Given the description of an element on the screen output the (x, y) to click on. 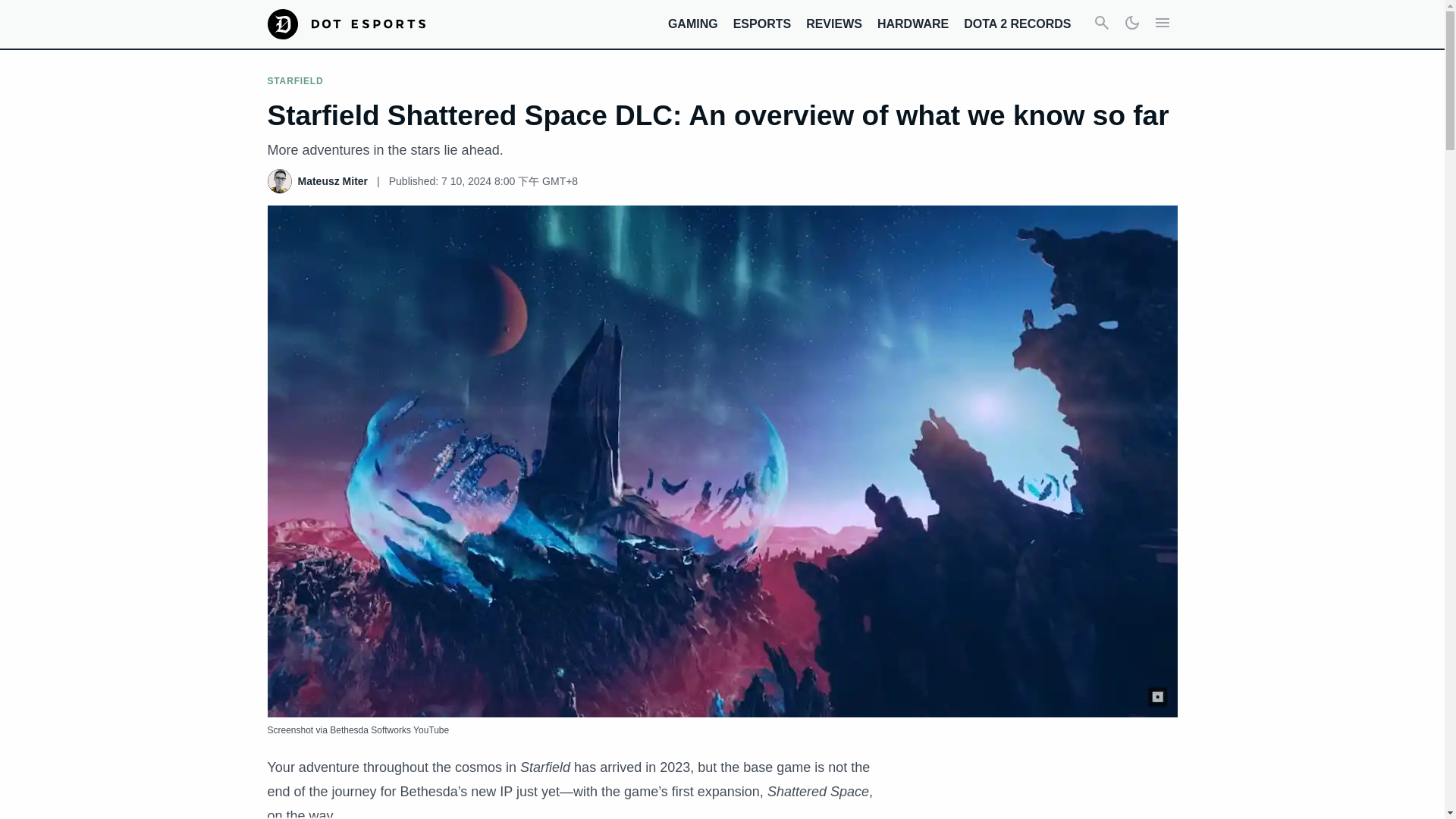
HARDWARE (913, 23)
Search (1101, 23)
Dark Mode (1131, 23)
GAMING (692, 23)
REVIEWS (833, 23)
DOTA 2 RECORDS (1016, 23)
ESPORTS (761, 23)
Expand Menu (1161, 23)
